Given the description of an element on the screen output the (x, y) to click on. 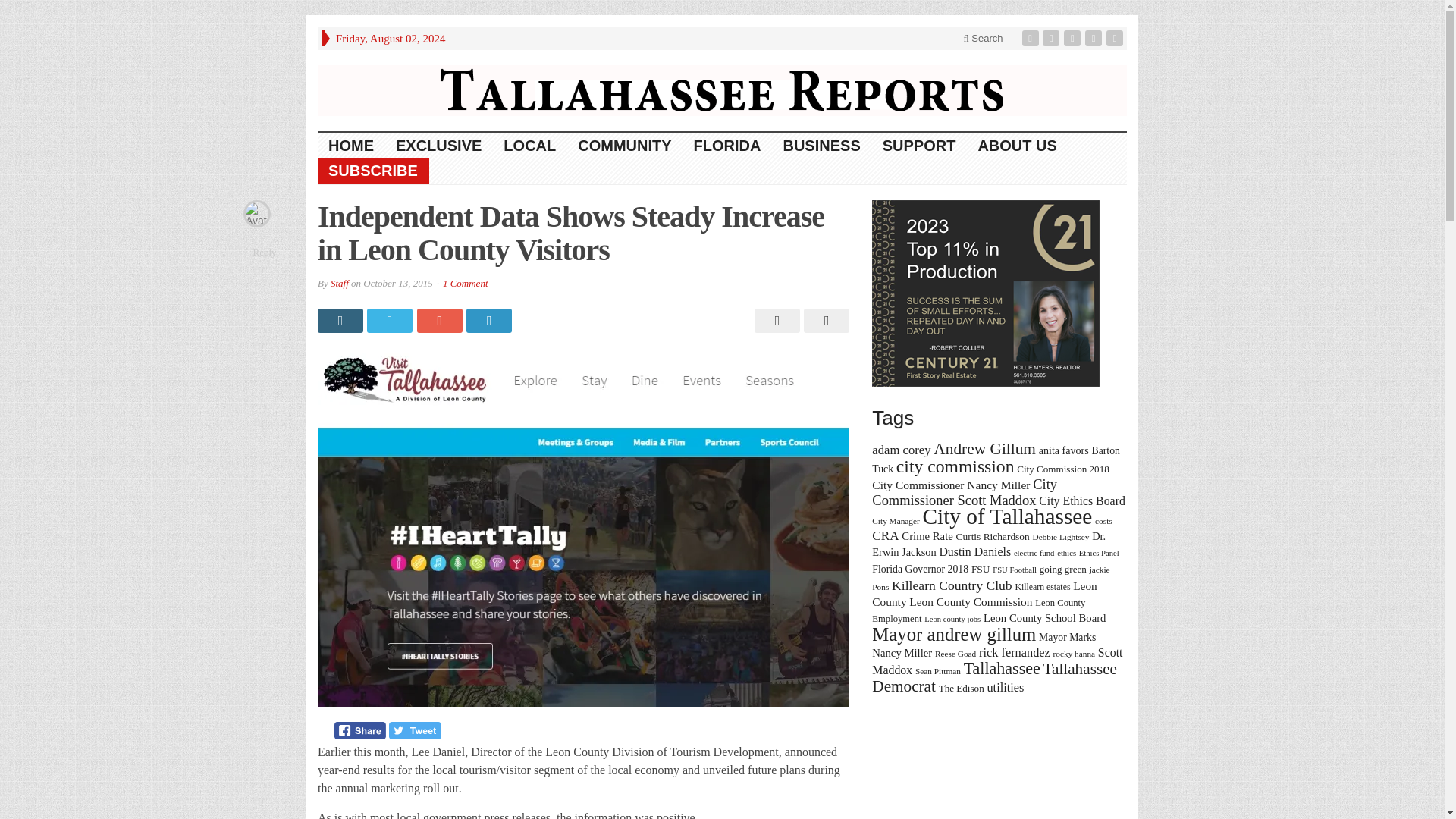
Youtube (1094, 37)
SUPPORT (920, 145)
LOCAL (530, 145)
Facebook (1032, 37)
COMMUNITY (624, 145)
Site feed (1115, 37)
SUBSCRIBE (373, 170)
FLORIDA (727, 145)
Twitter (1052, 37)
HOME (351, 145)
Search (982, 37)
Online News (721, 90)
ABOUT US (1016, 145)
EXCLUSIVE (439, 145)
BUSINESS (820, 145)
